Given the description of an element on the screen output the (x, y) to click on. 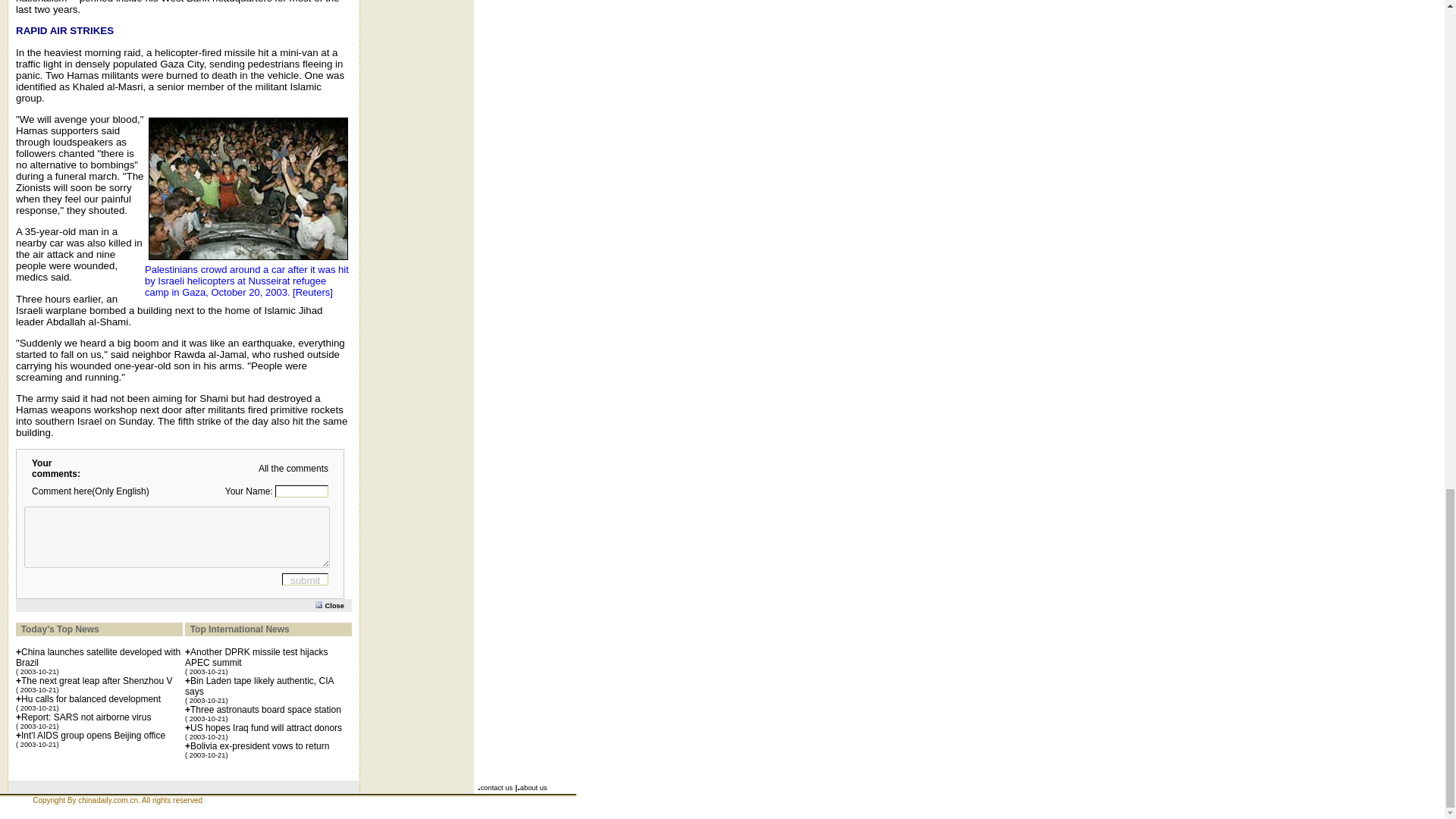
Another DPRK missile test hijacks APEC summit (255, 657)
The next great leap after Shenzhou V (96, 680)
Three astronauts board space station (265, 709)
Bolivia ex-president vows to return (259, 746)
Hu calls for balanced development (90, 698)
US hopes Iraq fund will attract donors (266, 727)
Report: SARS not airborne virus (86, 716)
Int'l AIDS group opens Beijing office (93, 735)
China launches satellite developed with Brazil (98, 657)
 submit  (305, 579)
